Given the description of an element on the screen output the (x, y) to click on. 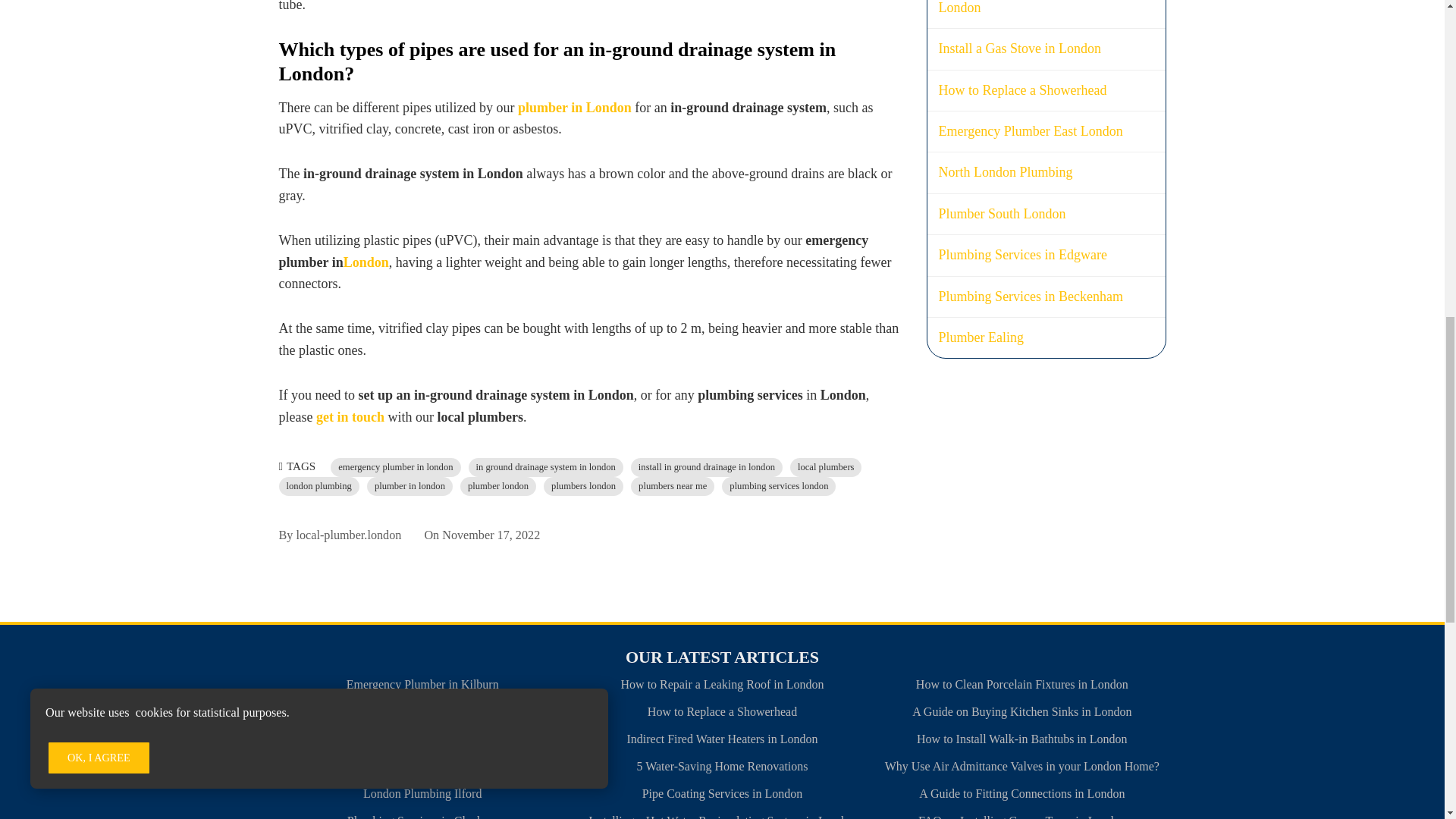
plumbers near me (672, 486)
in ground drainage system in london (545, 466)
London (365, 262)
emergency plumber in london (395, 466)
local plumbers (825, 466)
plumber london (497, 486)
plumber in london (409, 486)
plumbers london (583, 486)
install in ground drainage in london (706, 466)
london plumbing (319, 486)
plumbing services london (778, 486)
get in touch (349, 417)
plumber in London (574, 107)
